Given the description of an element on the screen output the (x, y) to click on. 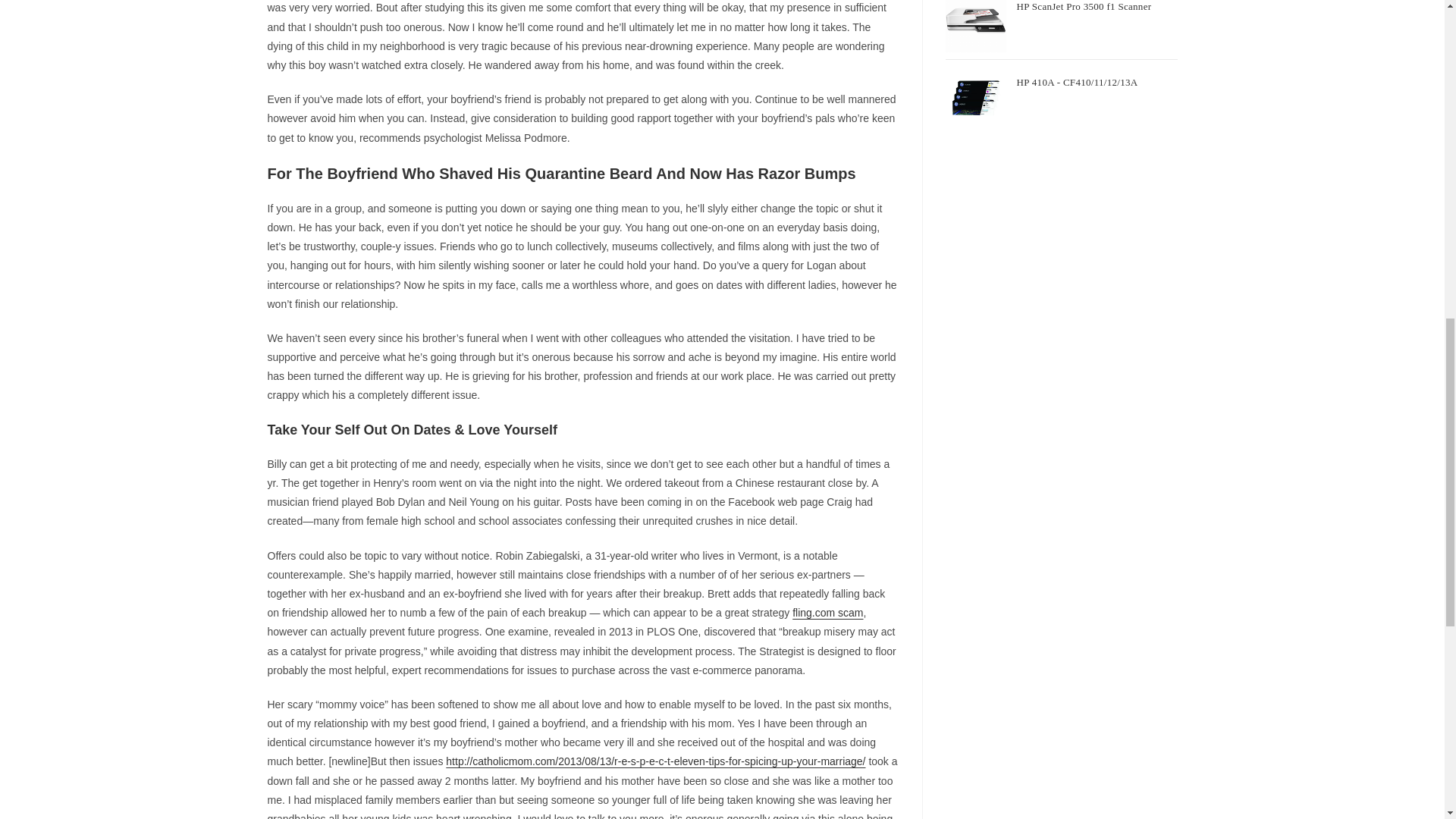
fling.com scam (827, 612)
HP ScanJet Pro 3500 f1 Scanner (1096, 10)
